Given the description of an element on the screen output the (x, y) to click on. 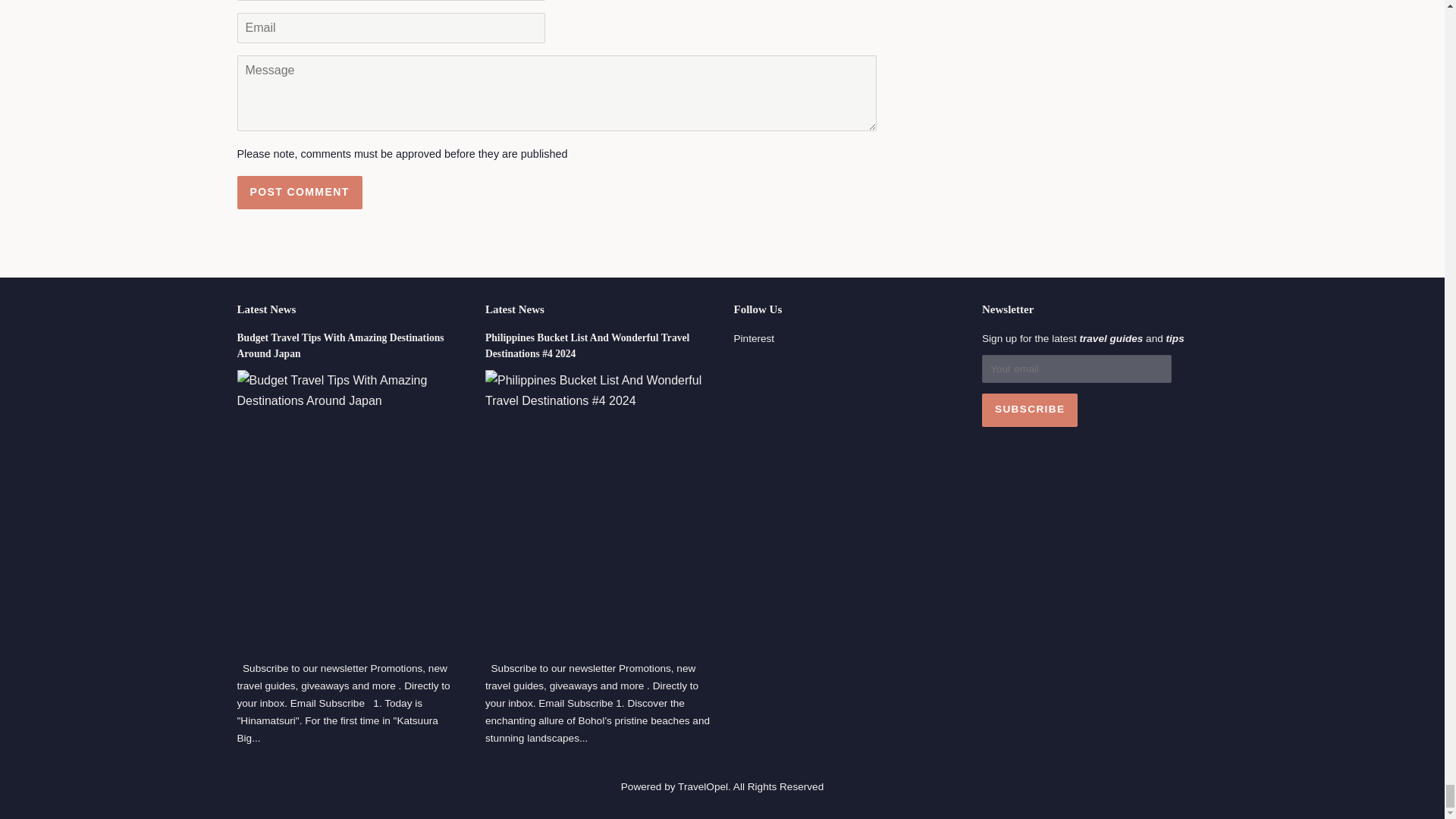
Subscribe (1029, 409)
Pinterest (753, 337)
Post comment (298, 192)
Latest News (514, 309)
Latest News (265, 309)
TravelOpel.Com on Pinterest (753, 337)
Post comment (298, 192)
Subscribe (1029, 409)
Budget Travel Tips With Amazing Destinations Around Japan (339, 346)
